Given the description of an element on the screen output the (x, y) to click on. 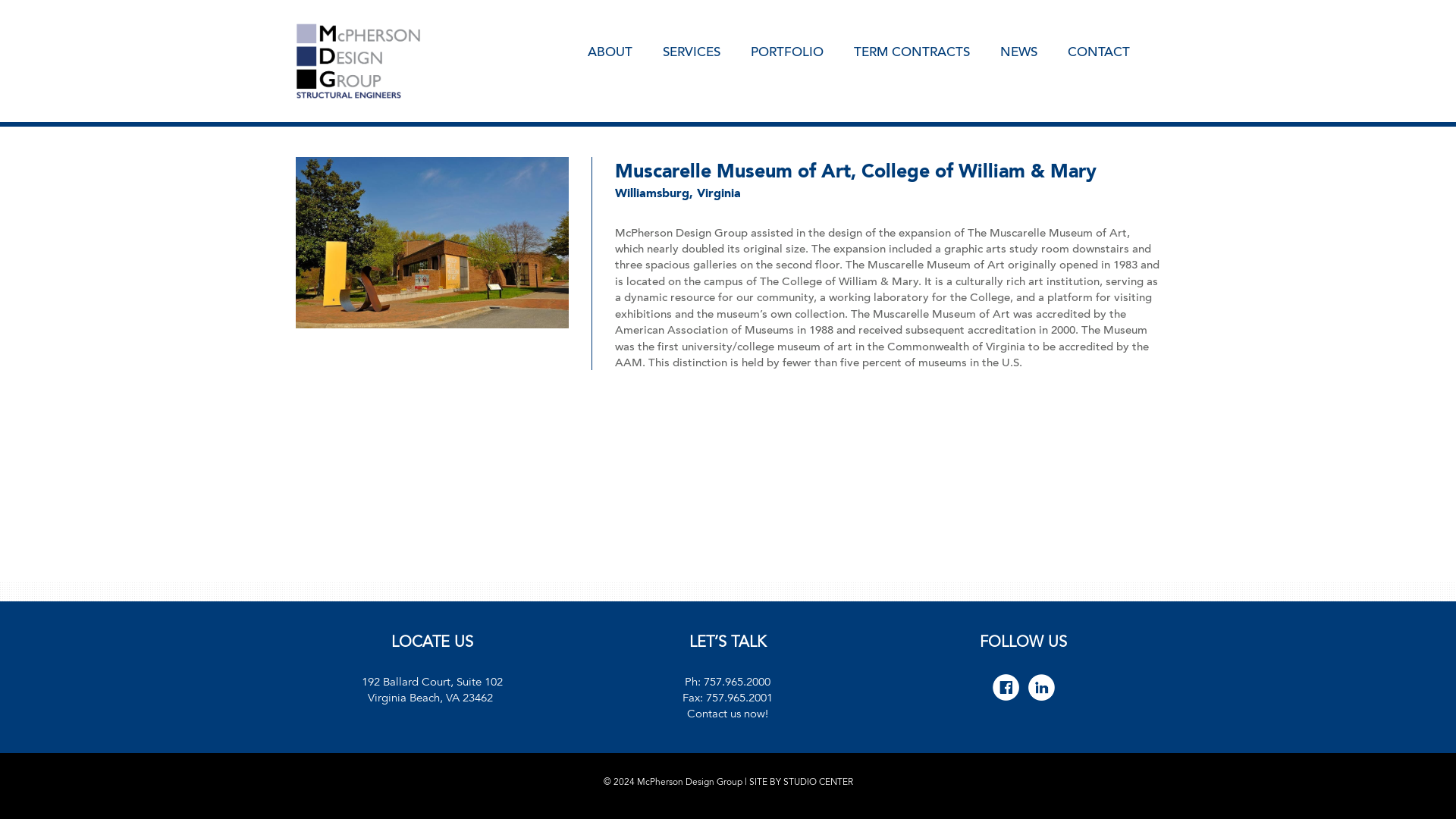
SERVICES (706, 50)
ABOUT (625, 50)
PORTFOLIO (802, 50)
